Given the description of an element on the screen output the (x, y) to click on. 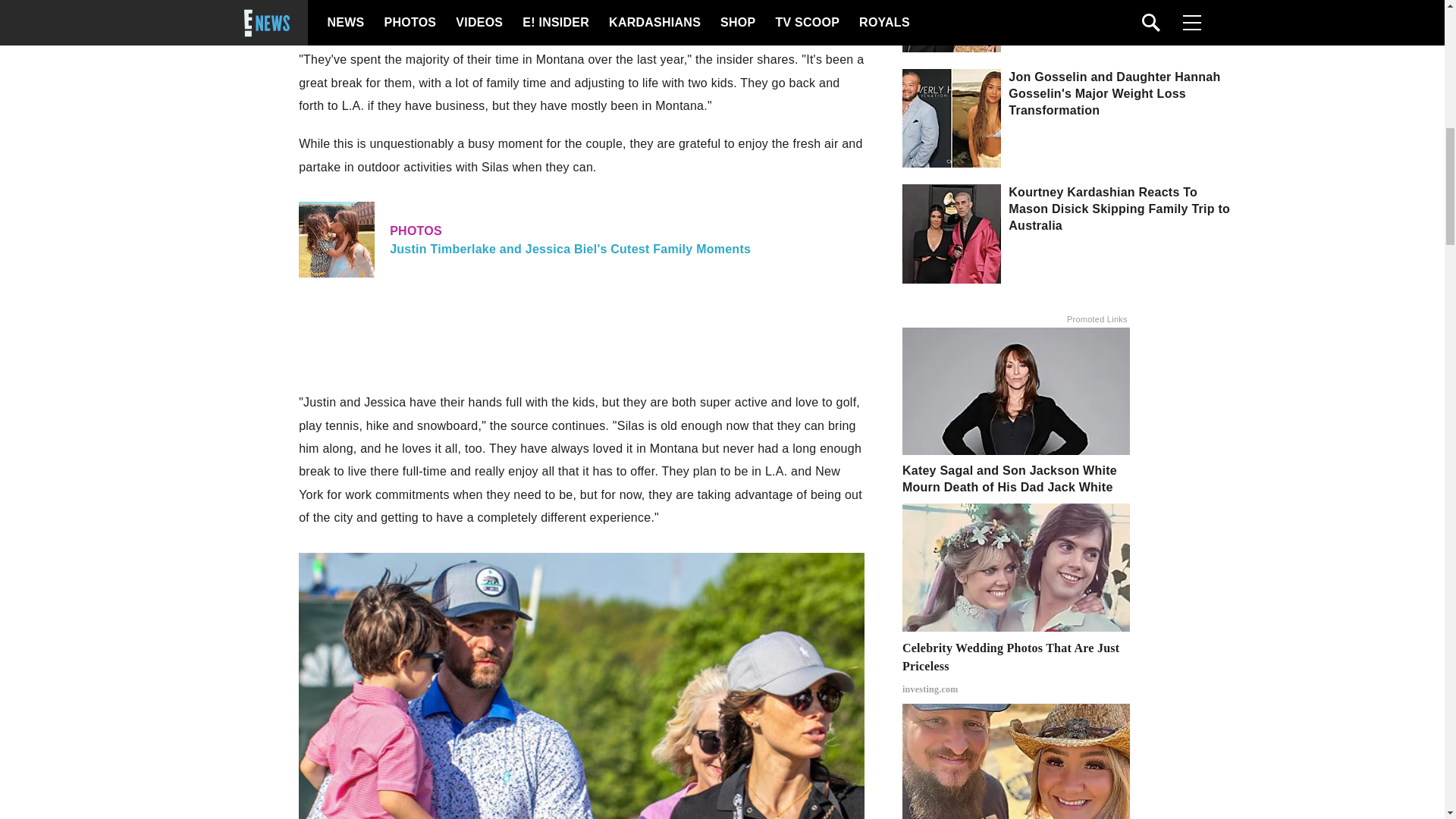
5-year-old son Silas (791, 21)
tied the knot in October 2012 (531, 21)
Celebrity Wedding Photos That Are Just Priceless (1015, 667)
